Given the description of an element on the screen output the (x, y) to click on. 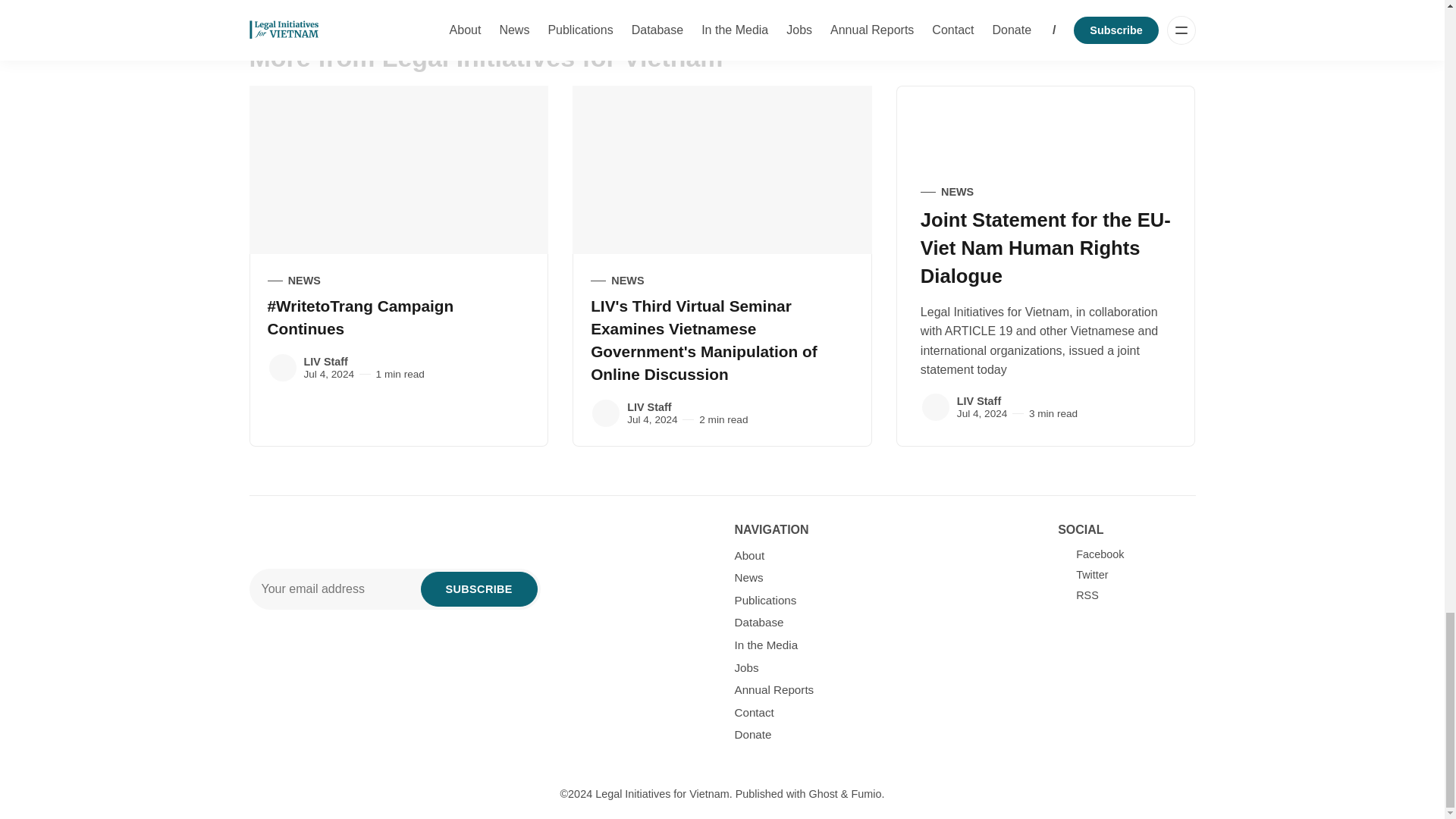
LIV Staff (935, 407)
LIV Staff (606, 413)
LIV Staff (281, 367)
